Given the description of an element on the screen output the (x, y) to click on. 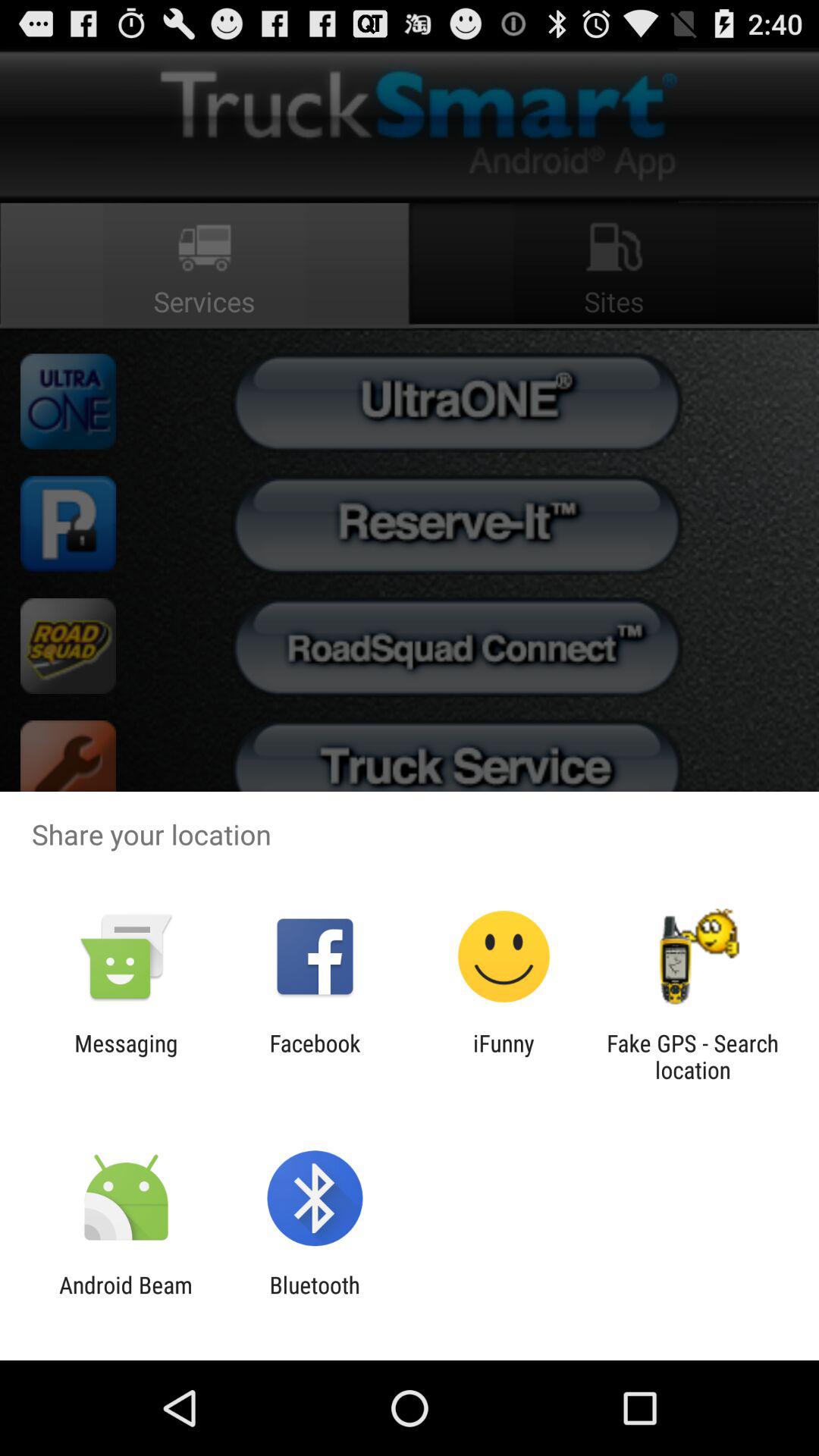
jump to ifunny (503, 1056)
